Given the description of an element on the screen output the (x, y) to click on. 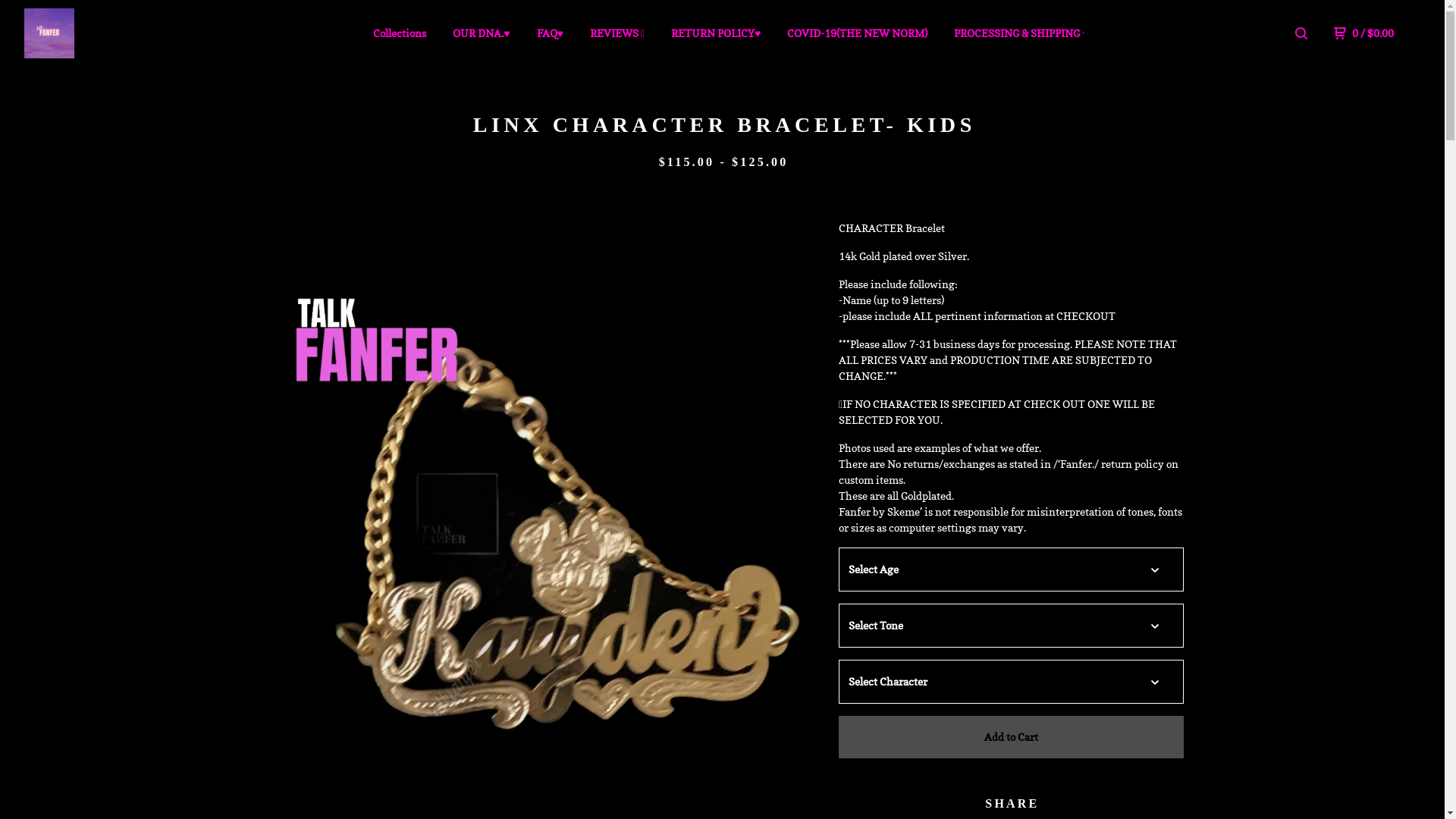
0 / $0.00 Element type: text (1363, 32)
COVID-19(THE NEW NORM) Element type: text (857, 32)
Collections Element type: text (399, 32)
Add to Cart Element type: text (1010, 736)
